Given the description of an element on the screen output the (x, y) to click on. 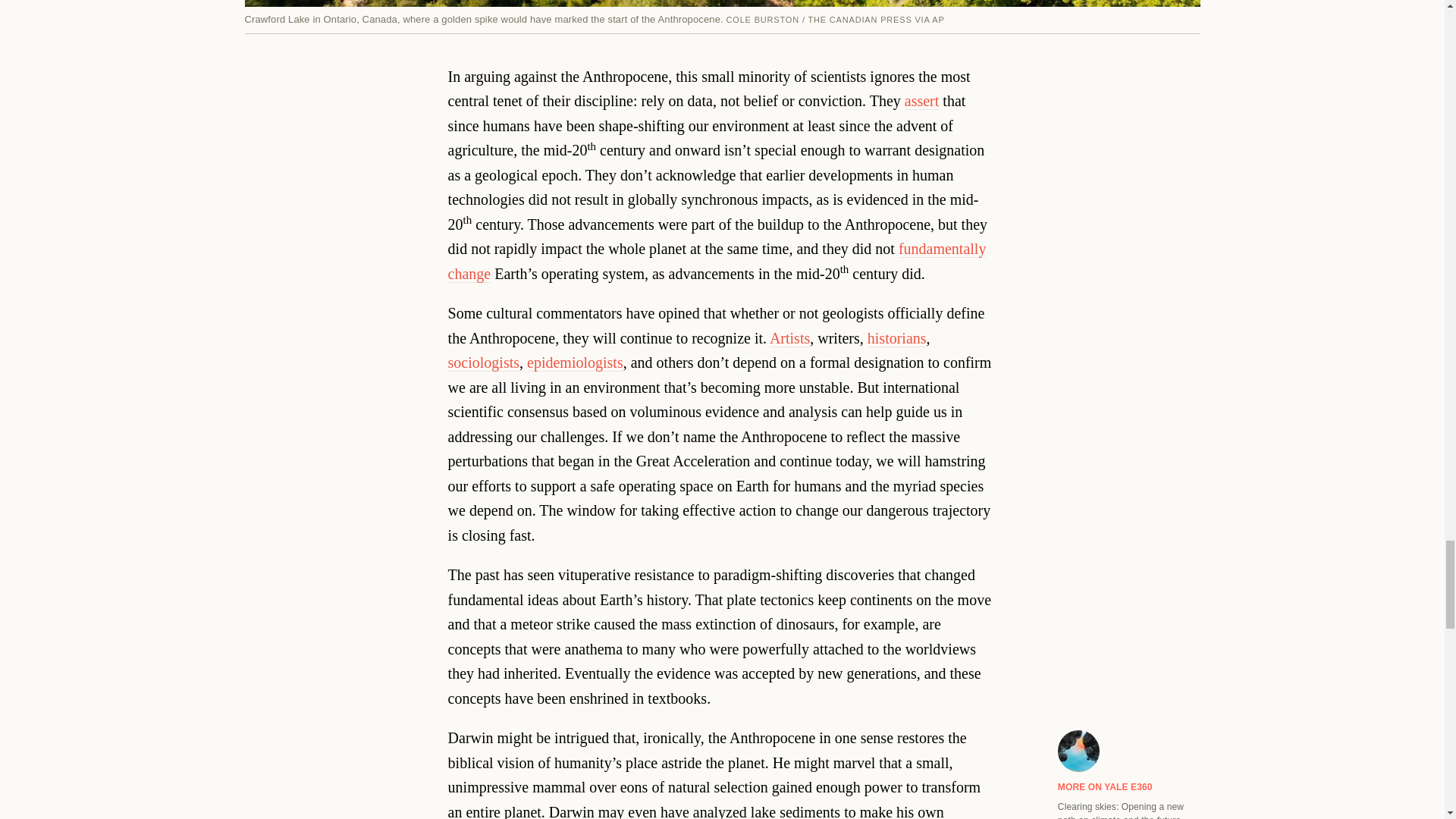
sociologists (483, 362)
assert (921, 100)
fundamentally change (717, 261)
historians (896, 338)
Artists (789, 338)
epidemiologists (575, 362)
